Given the description of an element on the screen output the (x, y) to click on. 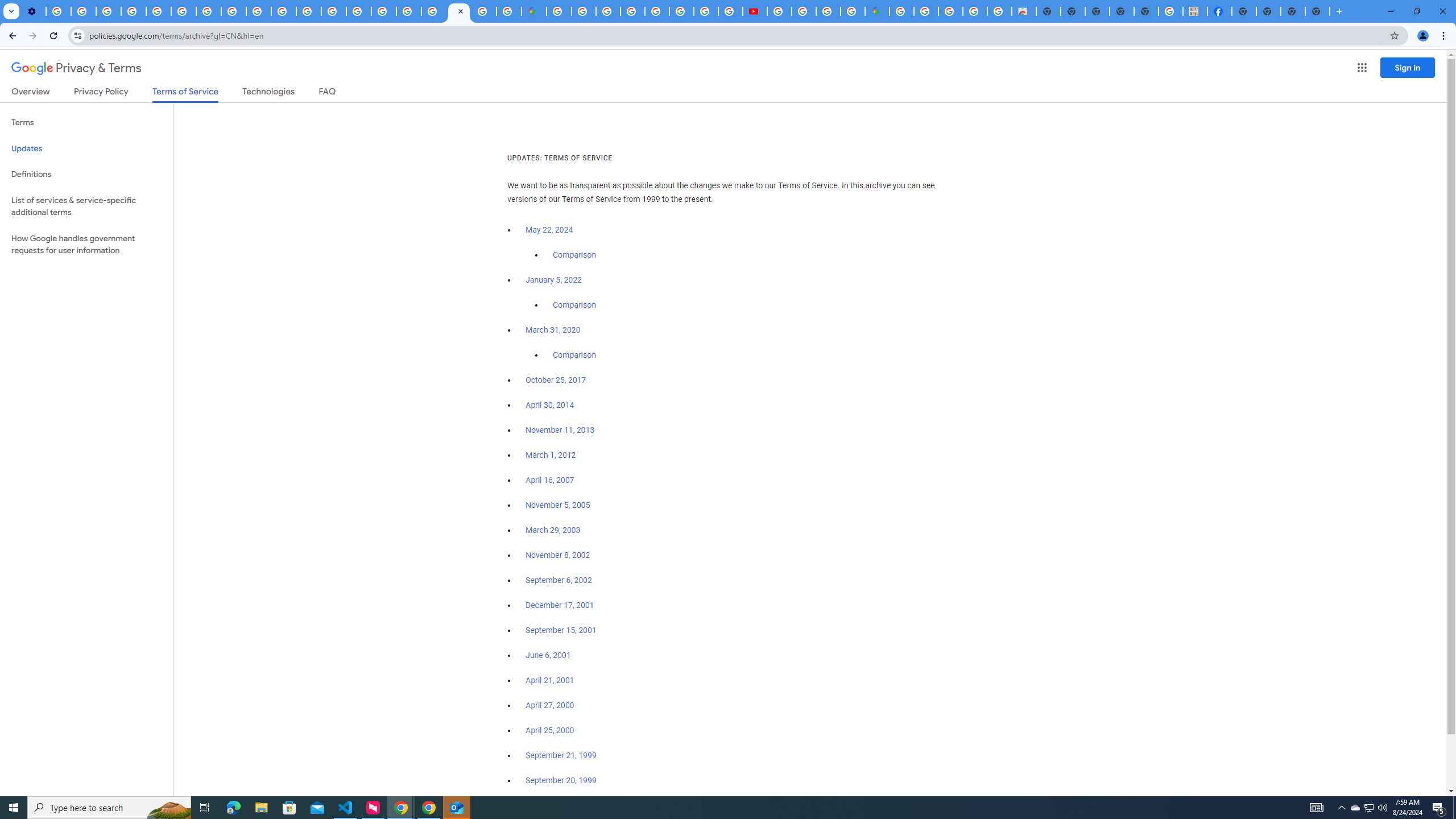
New Tab (1243, 11)
November 8, 2002 (557, 555)
Google Account Help (133, 11)
Privacy Checkup (283, 11)
April 25, 2000 (550, 729)
September 21, 1999 (560, 755)
April 16, 2007 (550, 480)
